Given the description of an element on the screen output the (x, y) to click on. 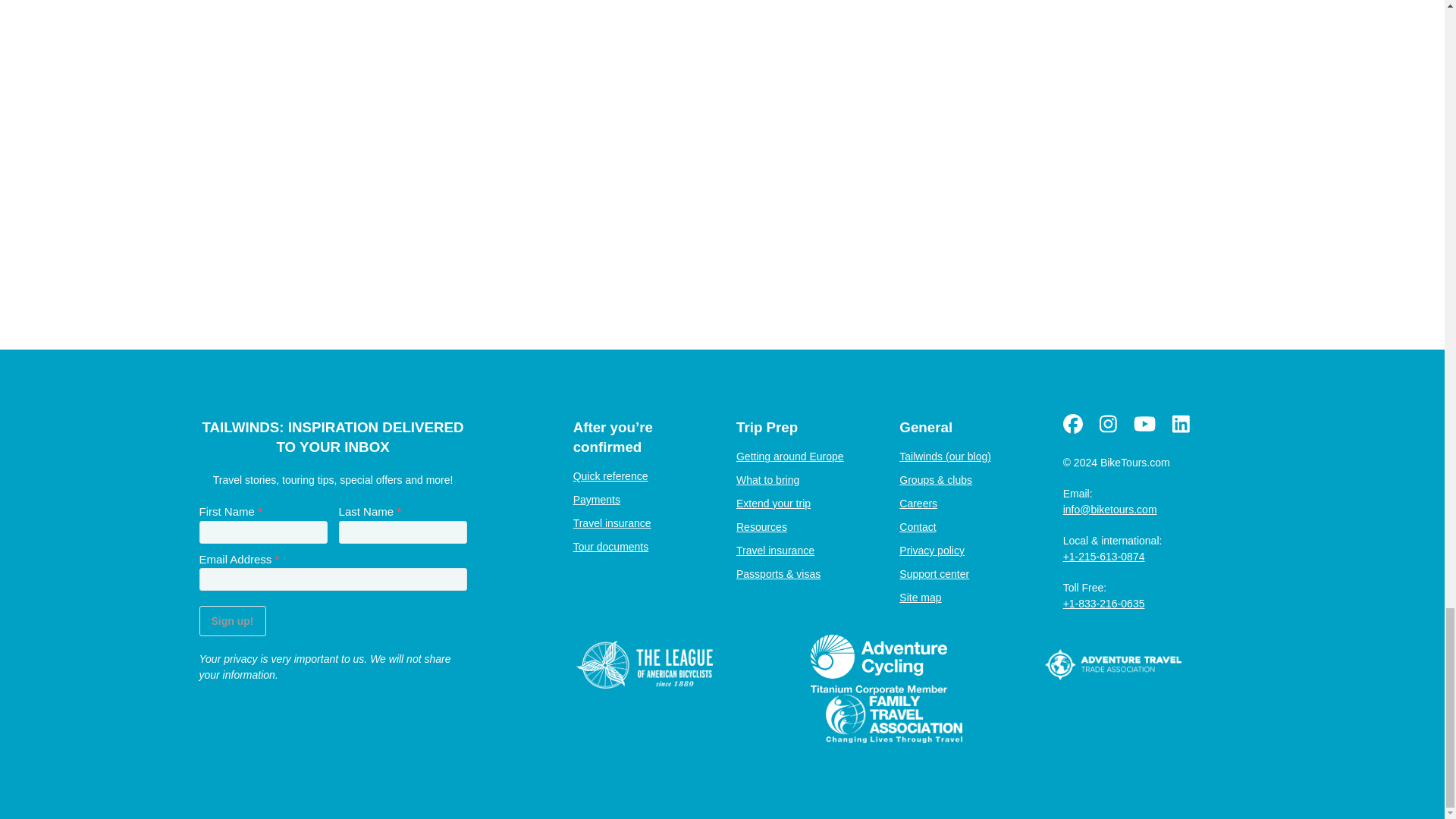
Sign up! (231, 621)
